Given the description of an element on the screen output the (x, y) to click on. 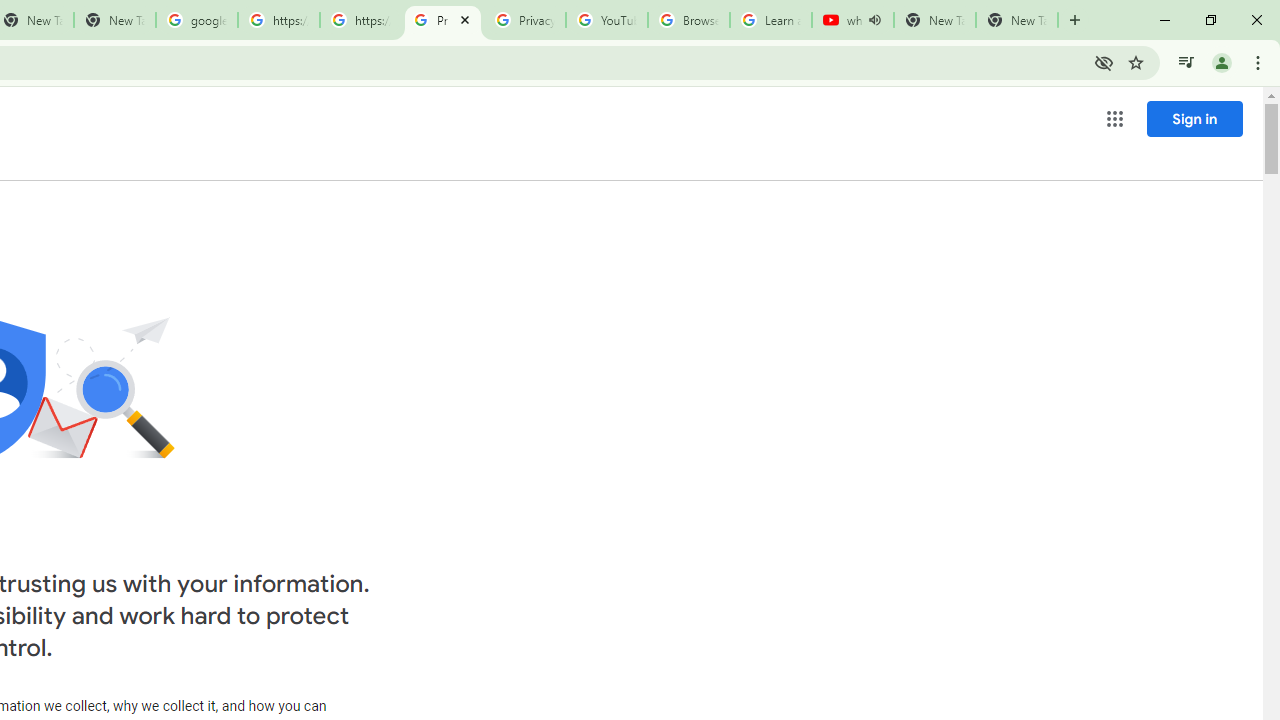
New Tab (1016, 20)
Browse Chrome as a guest - Computer - Google Chrome Help (688, 20)
Mute tab (874, 20)
https://scholar.google.com/ (278, 20)
